Given the description of an element on the screen output the (x, y) to click on. 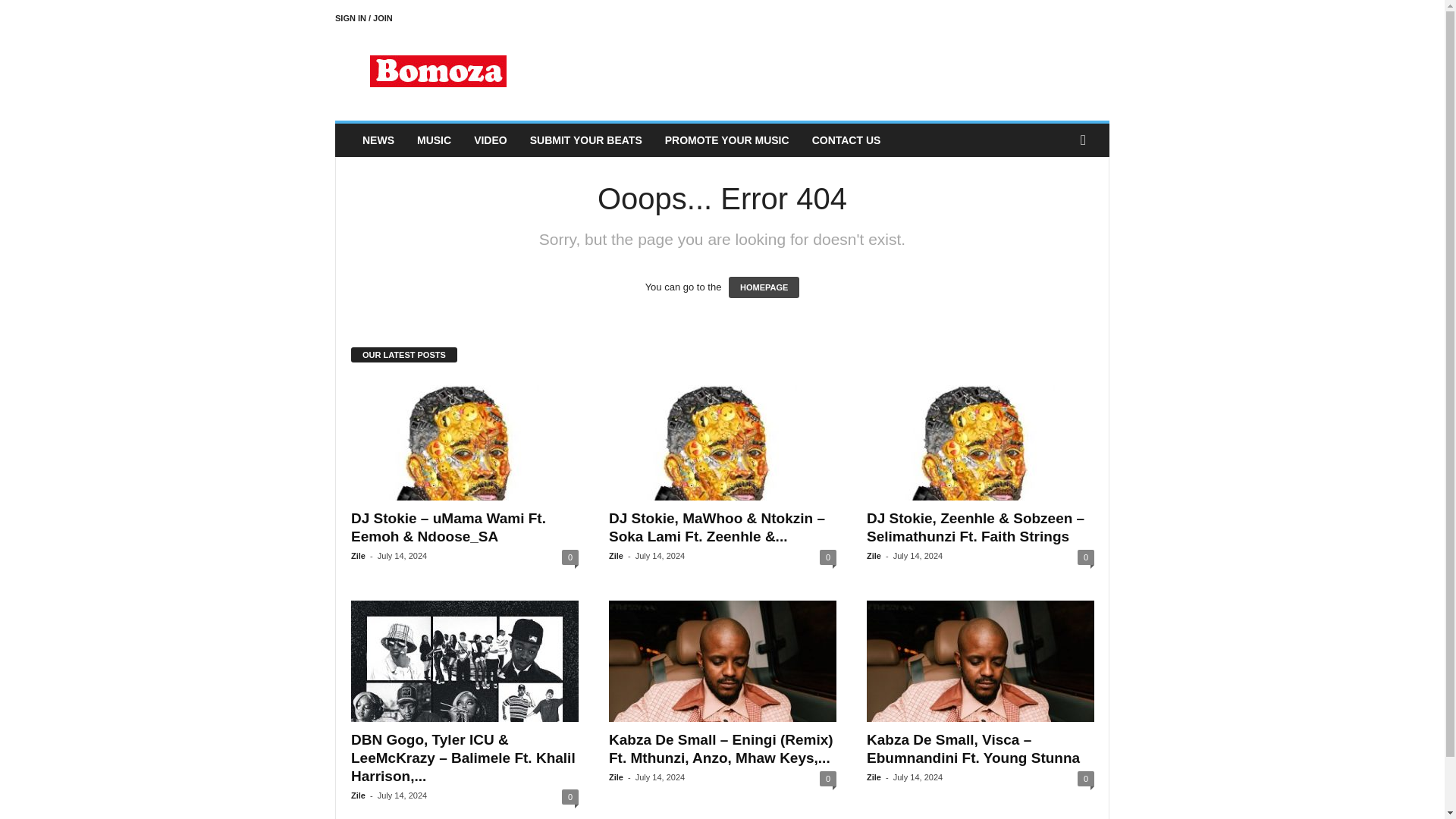
0 (1085, 557)
Zile (873, 555)
Zile (615, 555)
Zile (357, 795)
Zile (357, 555)
VIDEO (490, 140)
0 (570, 557)
HOMEPAGE (764, 287)
PROMOTE YOUR MUSIC (726, 140)
NEWS (378, 140)
Bomoza (437, 70)
SUBMIT YOUR BEATS (585, 140)
CONTACT US (846, 140)
0 (570, 796)
MUSIC (434, 140)
